Given the description of an element on the screen output the (x, y) to click on. 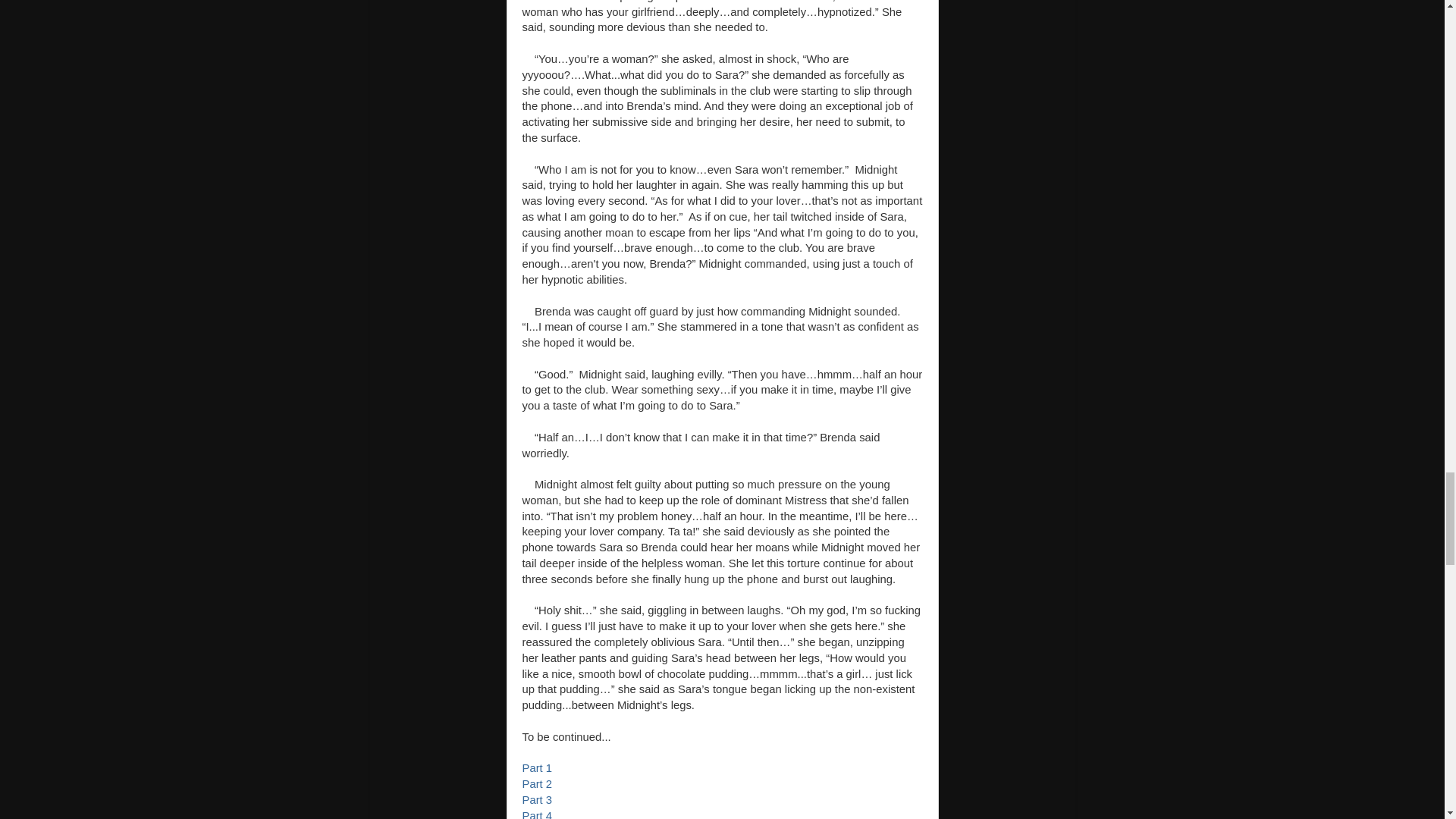
Part 4 (536, 814)
Part 1 (536, 767)
Part 3 (536, 799)
Part 2 (536, 784)
